Given the description of an element on the screen output the (x, y) to click on. 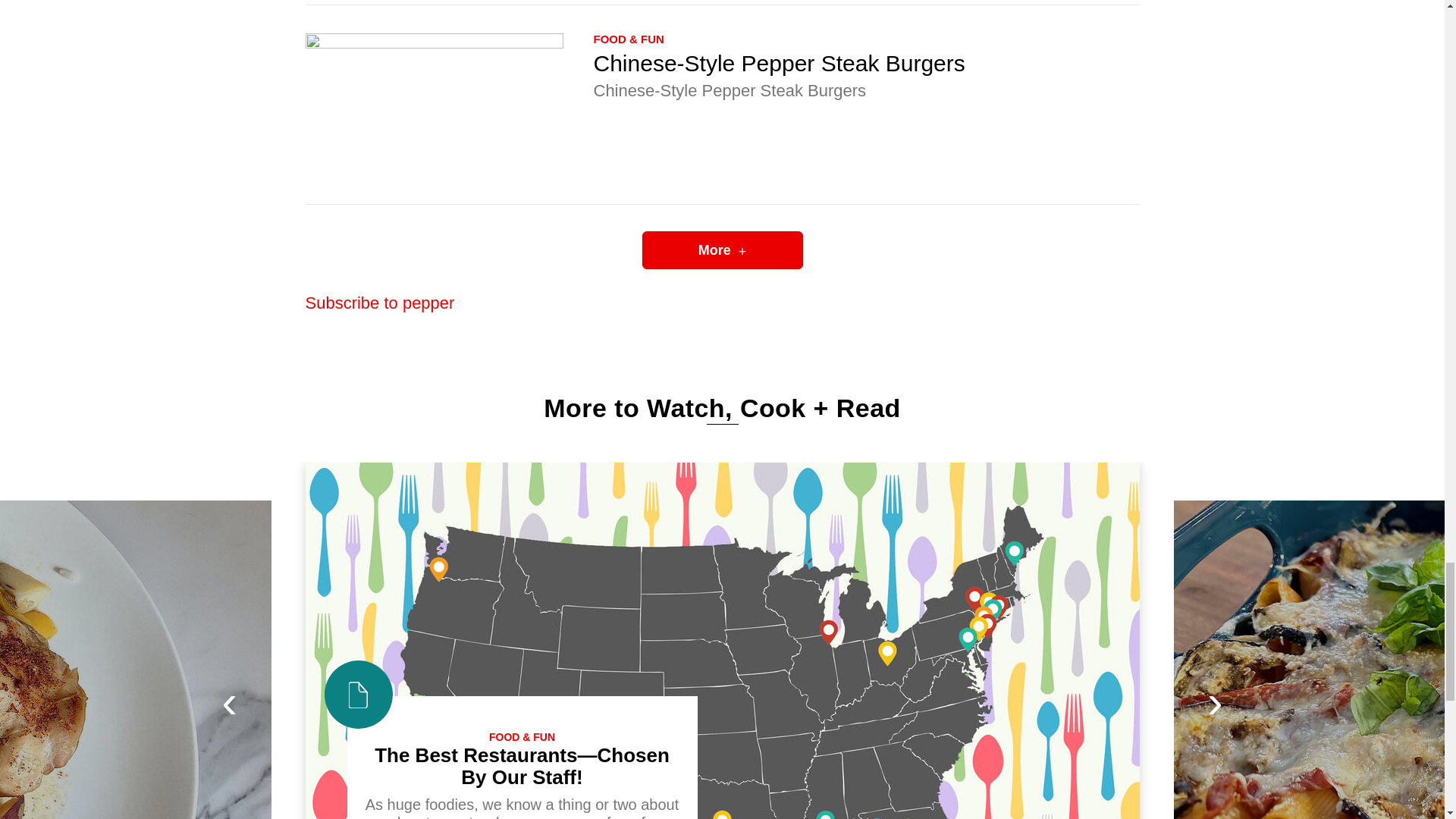
Go to next page (722, 249)
